Given the description of an element on the screen output the (x, y) to click on. 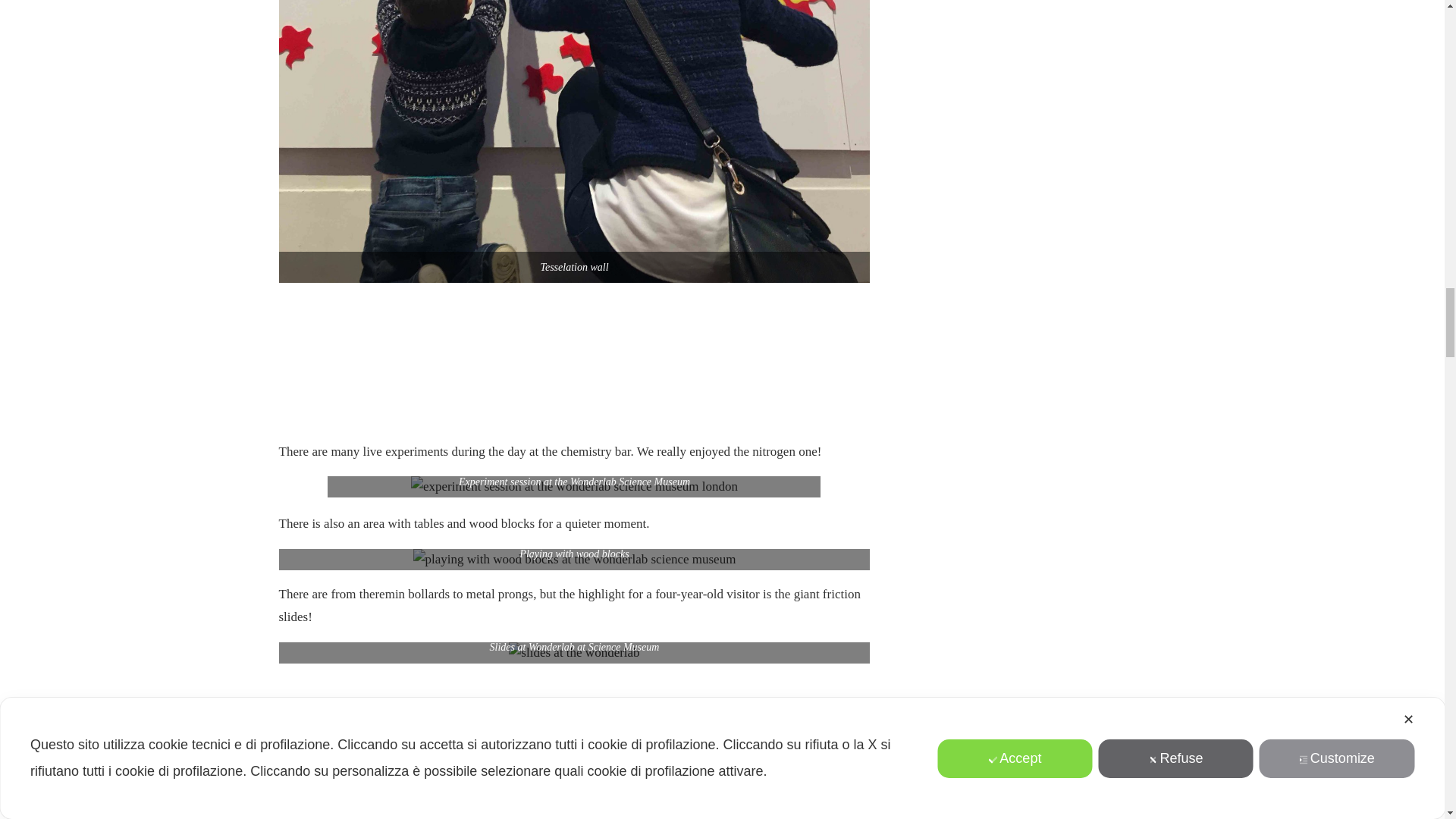
What to see at eh Wonderlab at the Science Museum (573, 652)
What to see at eh Wonderlab at the Science Museum (574, 486)
What to see at eh Wonderlab at the Science Museum (574, 559)
